Given the description of an element on the screen output the (x, y) to click on. 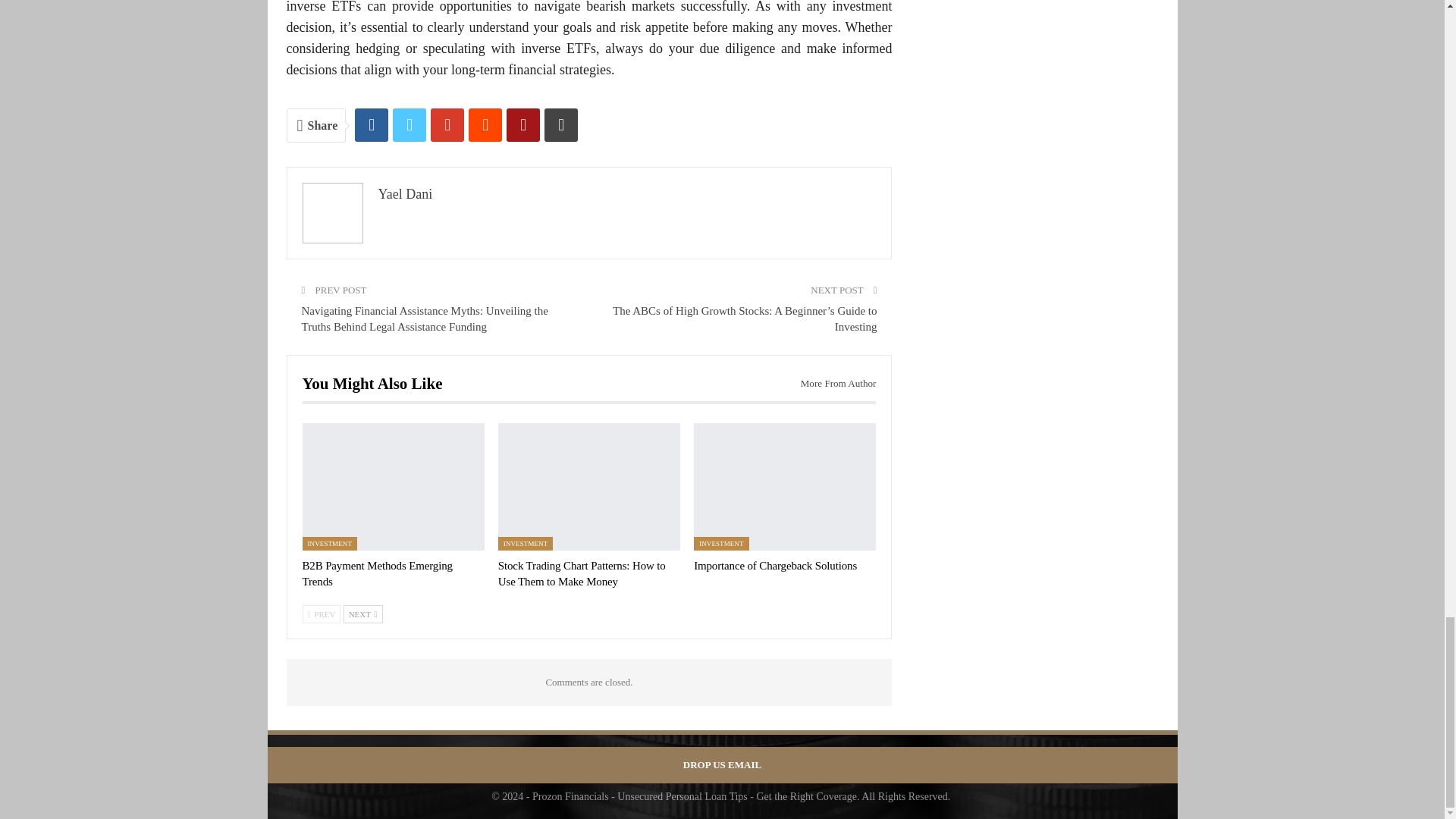
Next (362, 614)
B2B Payment Methods Emerging Trends (392, 486)
Stock Trading Chart Patterns: How to Use Them to Make Money (588, 486)
Importance of Chargeback Solutions (785, 486)
Previous (320, 614)
B2B Payment Methods Emerging Trends (376, 573)
Importance of Chargeback Solutions (775, 565)
Stock Trading Chart Patterns: How to Use Them to Make Money (581, 573)
